Given the description of an element on the screen output the (x, y) to click on. 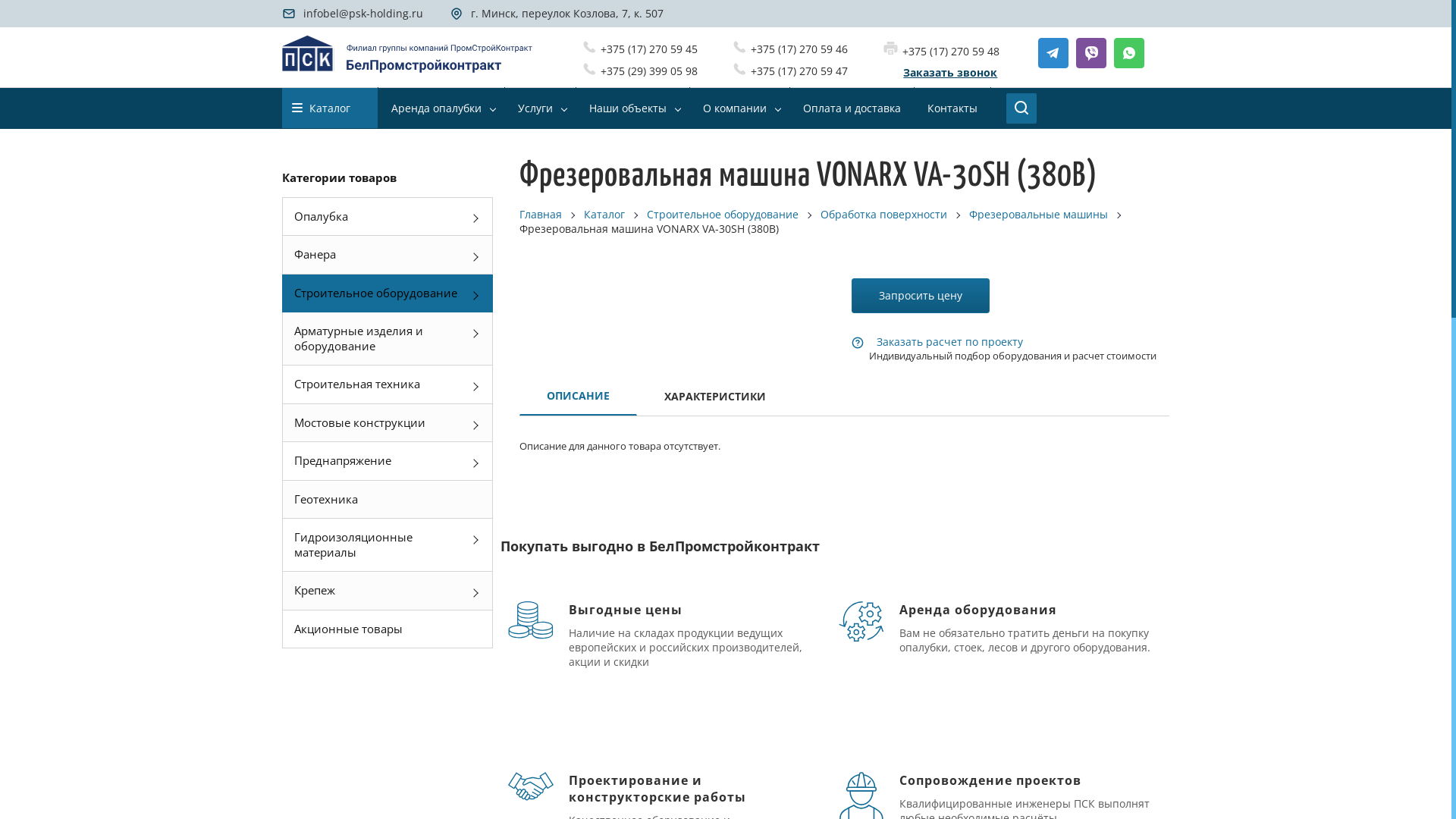
+375 (17) 270 59 47 Element type: text (790, 70)
infobel@psk-holding.ru Element type: text (352, 13)
+375 (17) 270 59 46 Element type: text (790, 48)
+375 (17) 270 59 45 Element type: text (640, 48)
+375 (17) 270 59 48 Element type: text (941, 50)
+375 (29) 399 05 98 Element type: text (640, 70)
